Given the description of an element on the screen output the (x, y) to click on. 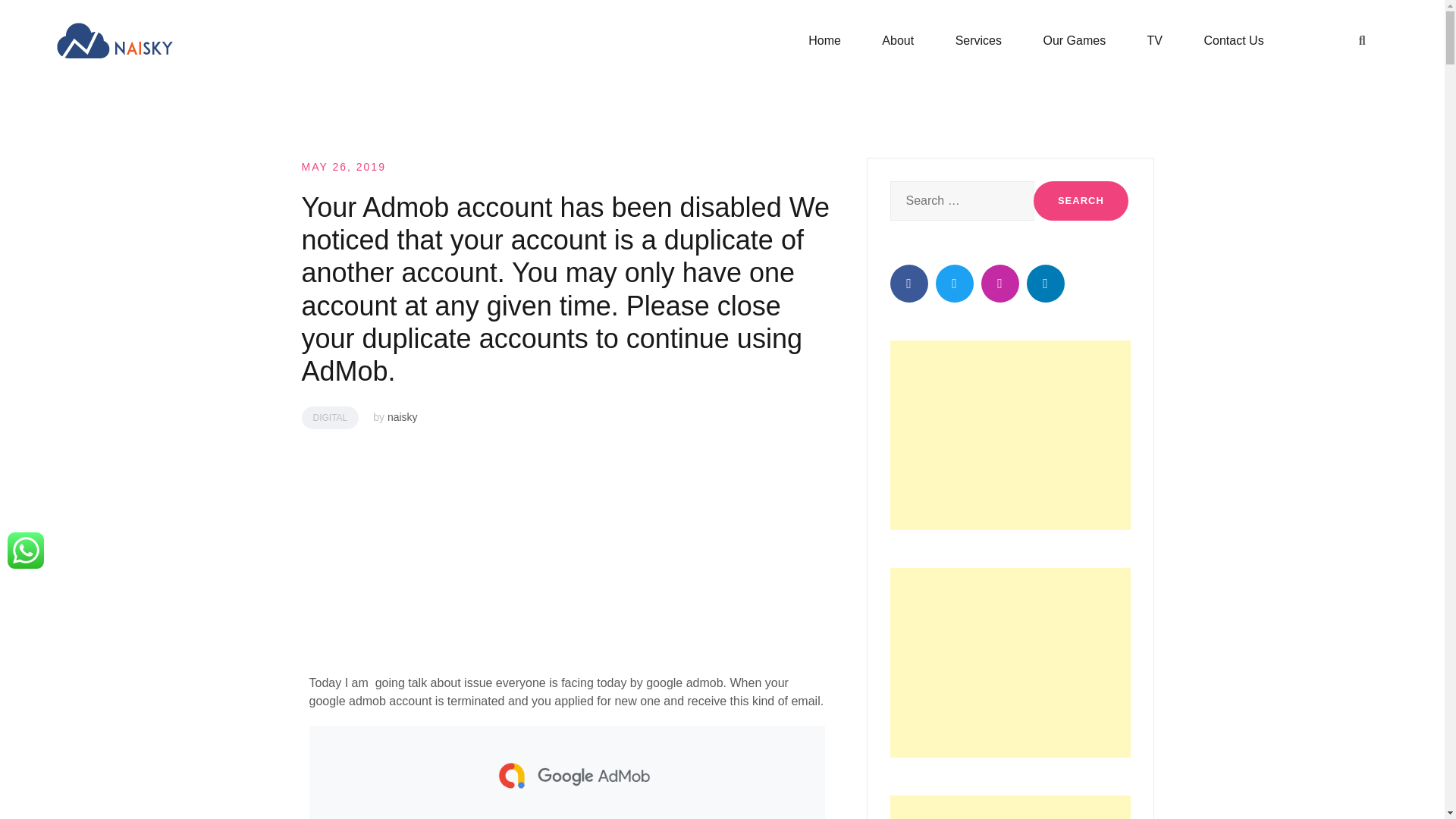
DIGITAL (330, 417)
TV (1154, 40)
About (898, 40)
Services (978, 40)
Our Games (1073, 40)
Advertisement (565, 558)
Advertisement (1010, 807)
Advertisement (1010, 434)
Search (1080, 200)
Contact Us (1233, 40)
naisky (402, 417)
Advertisement (1010, 662)
MAY 26, 2019 (343, 166)
Home (824, 40)
Search (1080, 200)
